Given the description of an element on the screen output the (x, y) to click on. 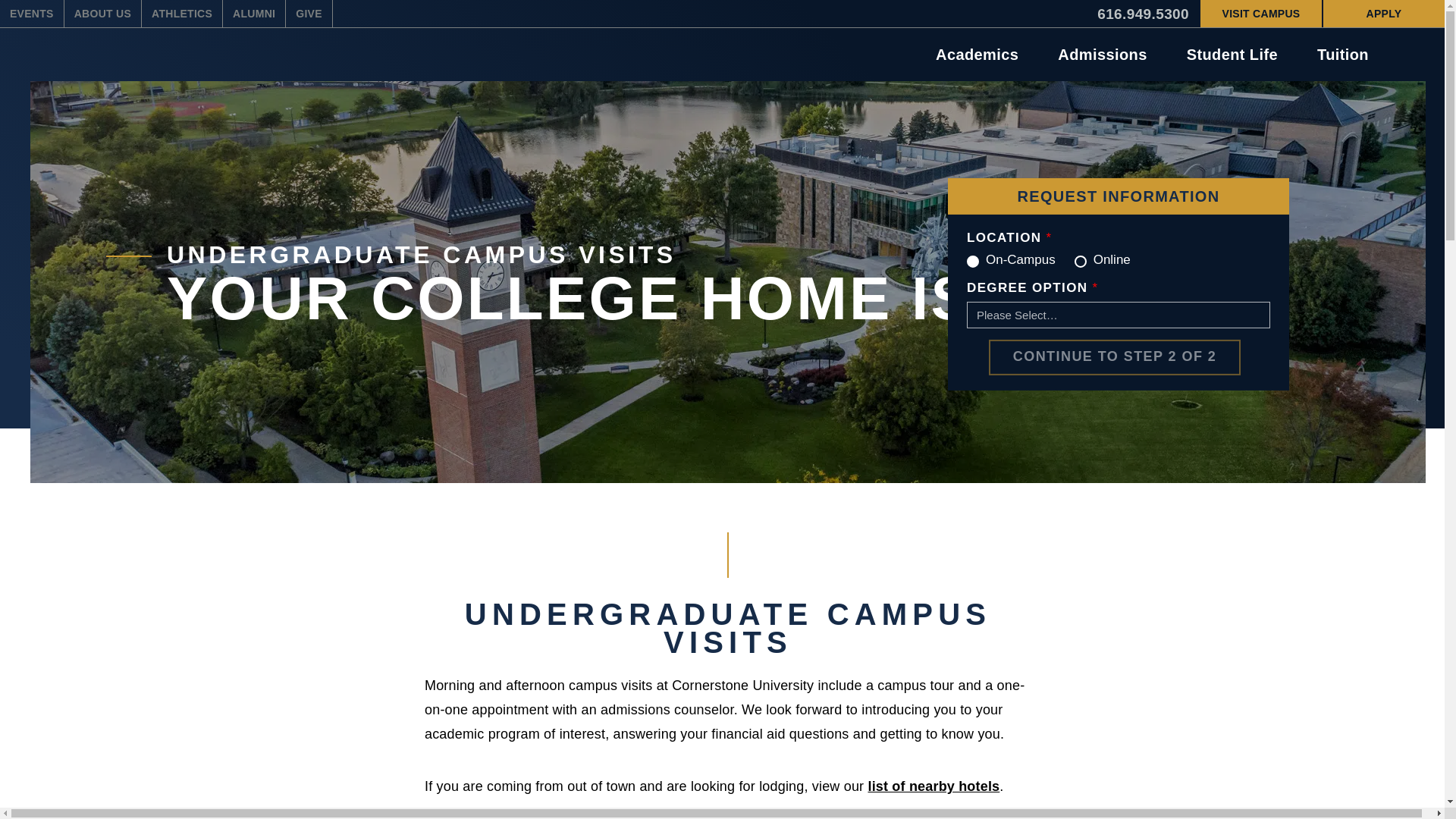
VISIT CAMPUS (1260, 13)
616.949.5300 (1142, 13)
Cornerstone University (148, 54)
EVENTS (32, 13)
Student Life (1223, 54)
Tuition (1334, 54)
ALUMNI (253, 13)
ATHLETICS (181, 13)
Search CU (1406, 54)
ABOUT US (102, 13)
